Given the description of an element on the screen output the (x, y) to click on. 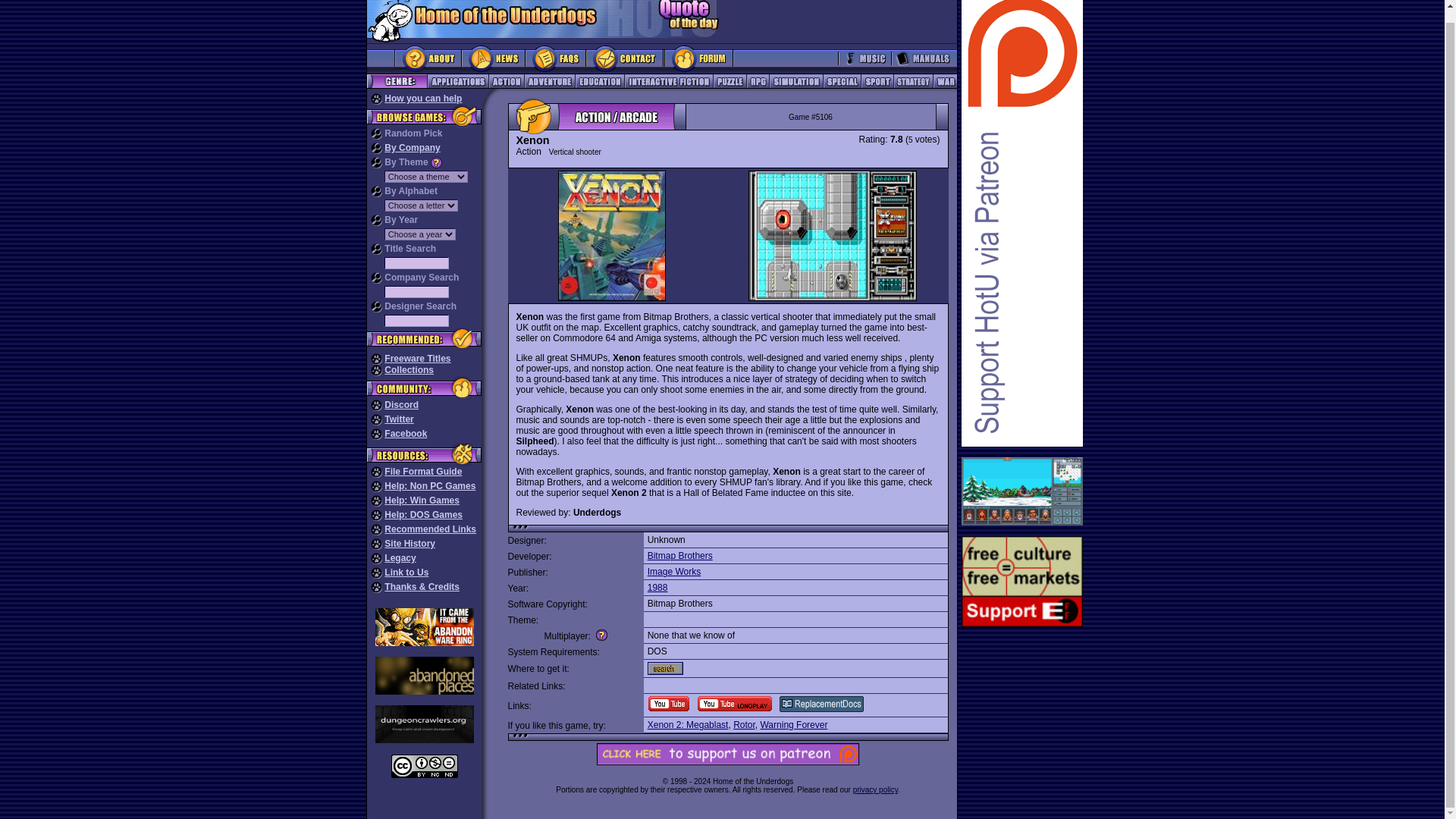
Help: Non PC Games (430, 485)
Facebook (405, 433)
Recommended Links (430, 529)
By Company (411, 147)
Random Pick (413, 132)
Discord (401, 404)
Legacy (399, 557)
How you can help (422, 98)
Freeware Titles (416, 357)
Site History (409, 543)
